Given the description of an element on the screen output the (x, y) to click on. 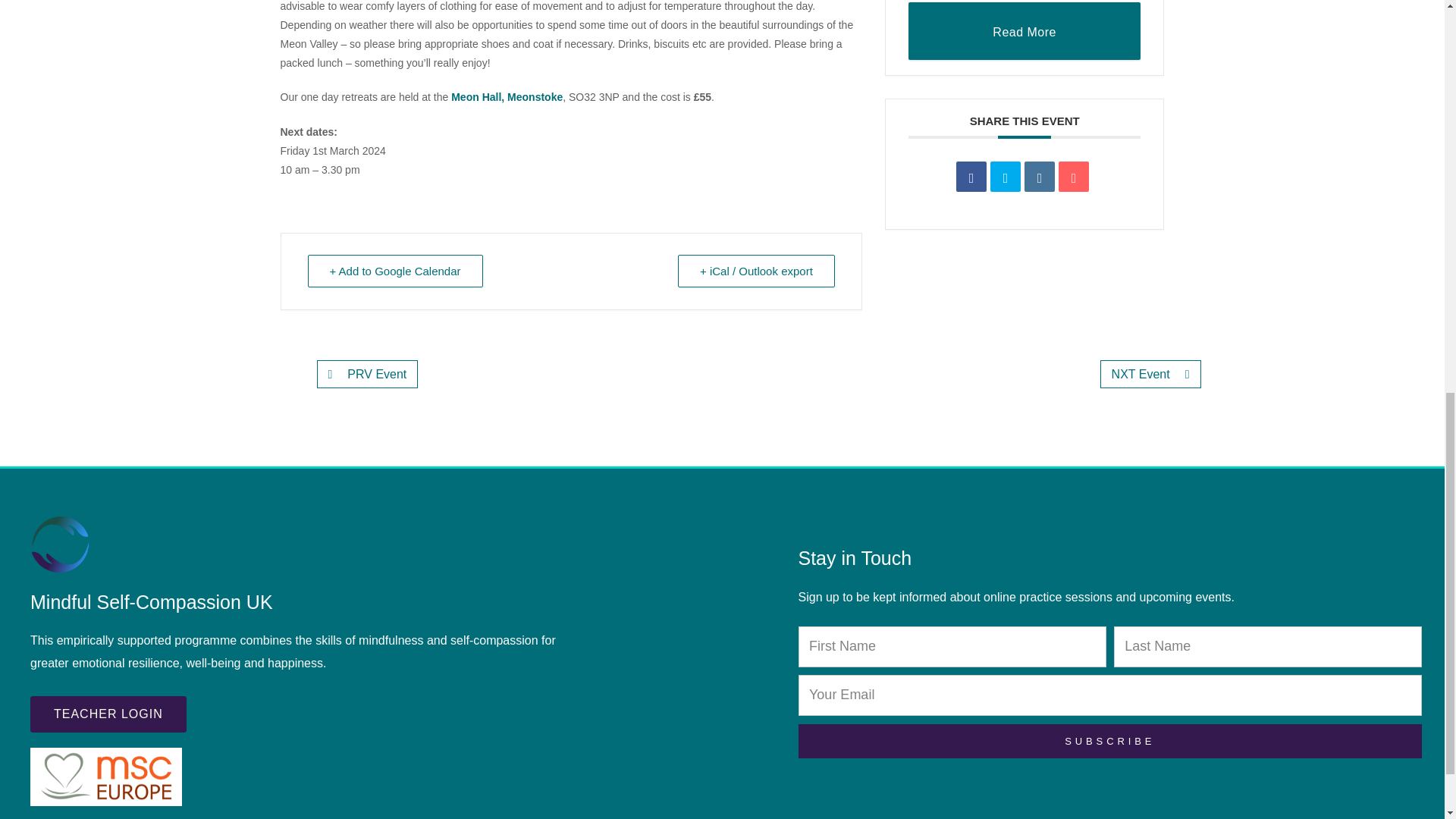
Meon Hall, Meonstoke (506, 96)
Read More (1024, 30)
Linkedin (1039, 176)
Email (1073, 176)
Tweet (1005, 176)
Share on Facebook (971, 176)
